Given the description of an element on the screen output the (x, y) to click on. 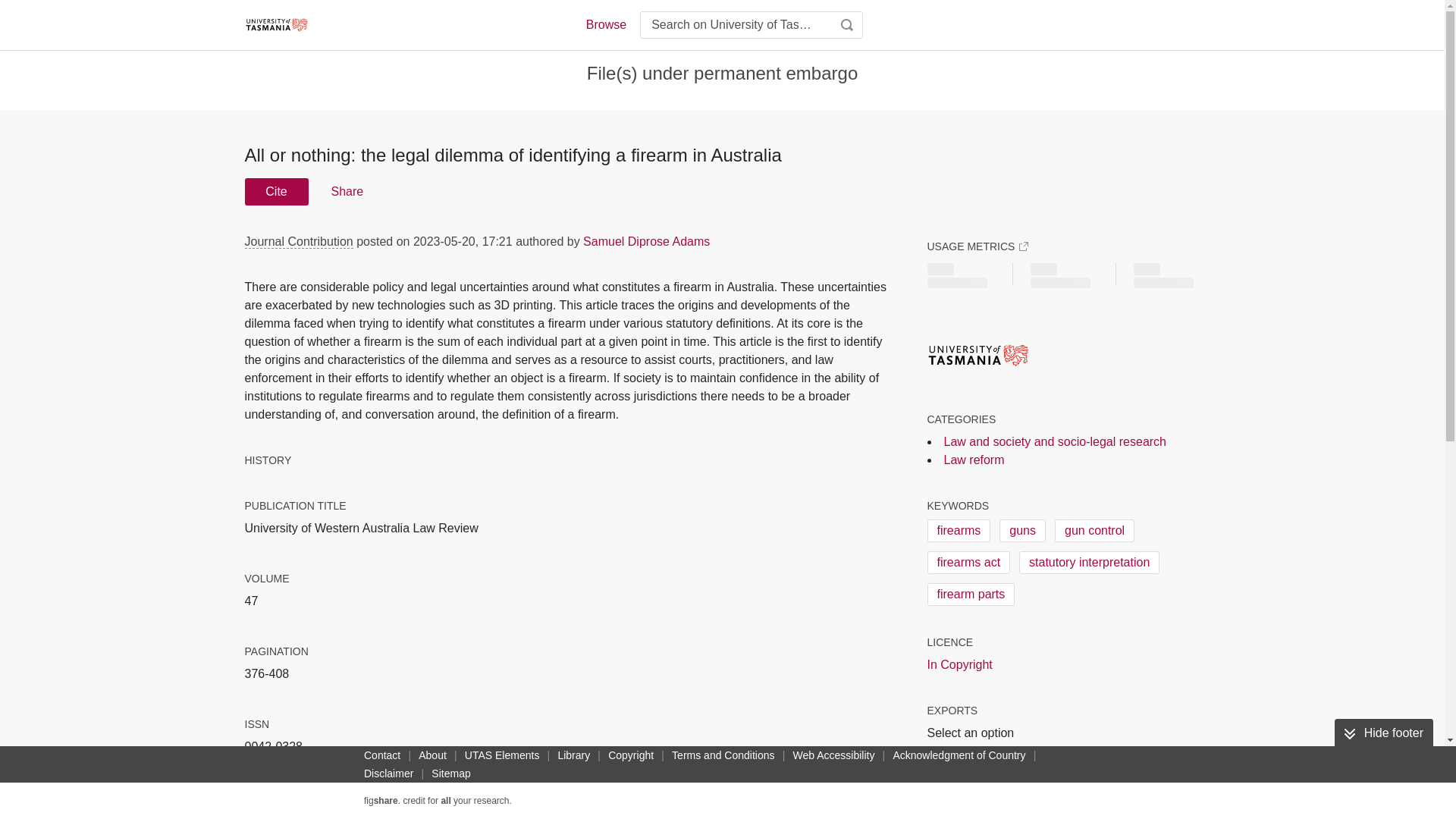
Browse (605, 24)
Library (573, 755)
Web Accessibility (834, 755)
firearm parts (970, 594)
Contact (381, 755)
Sitemap (450, 773)
gun control (1094, 530)
firearms (958, 530)
statutory interpretation (1088, 562)
guns (1021, 530)
UTAS Elements (502, 755)
Law reform (973, 459)
Samuel Diprose Adams (646, 241)
Copyright (631, 755)
Hide footer (1383, 733)
